Given the description of an element on the screen output the (x, y) to click on. 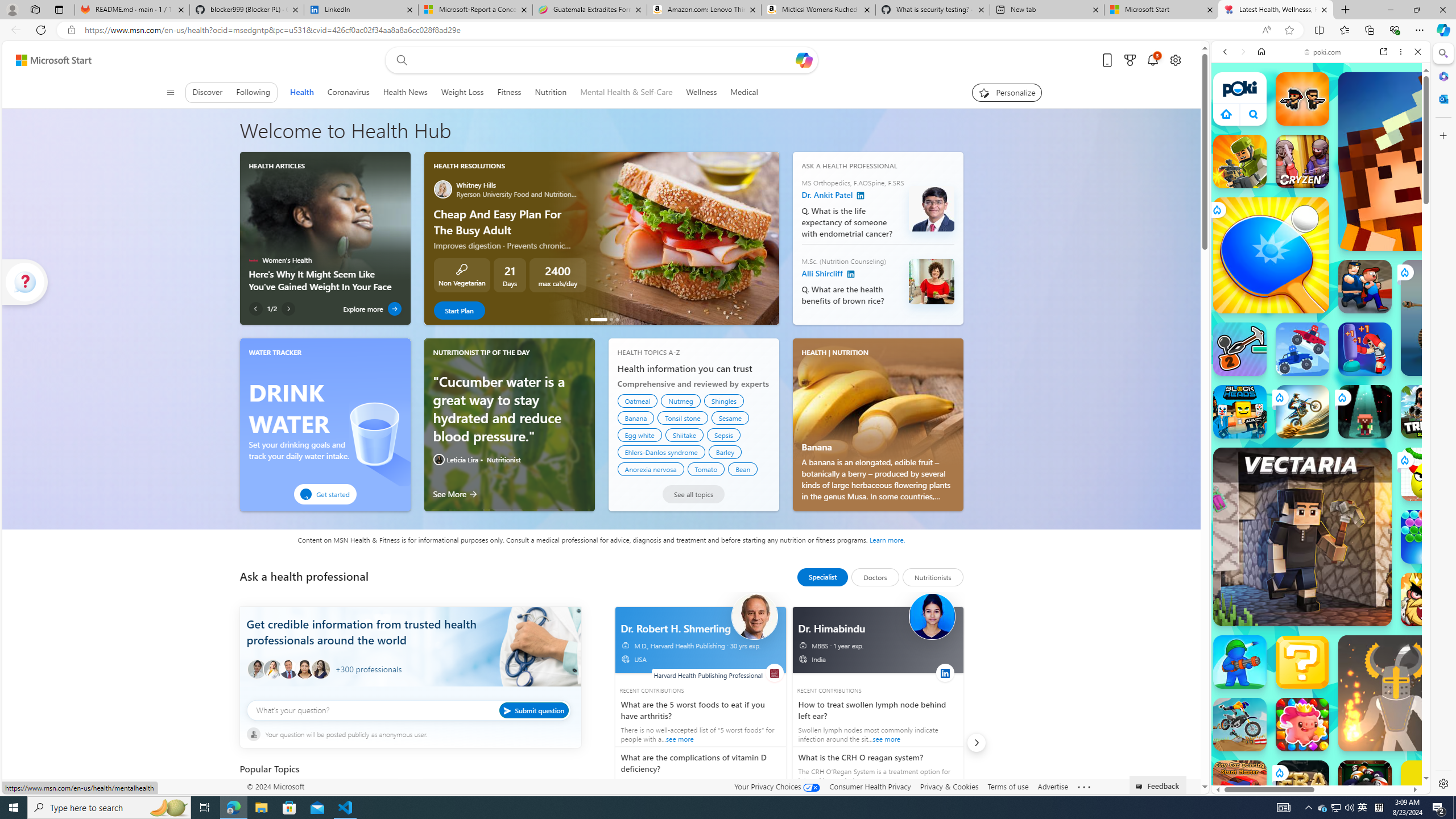
Ehlers-Danlos syndrome (660, 451)
Class: vecOut (801, 659)
See all topics (693, 493)
Era: Evolution Era: Evolution (1302, 787)
Escape From School (1364, 286)
Coronavirus (348, 92)
Shingles (723, 400)
